Given the description of an element on the screen output the (x, y) to click on. 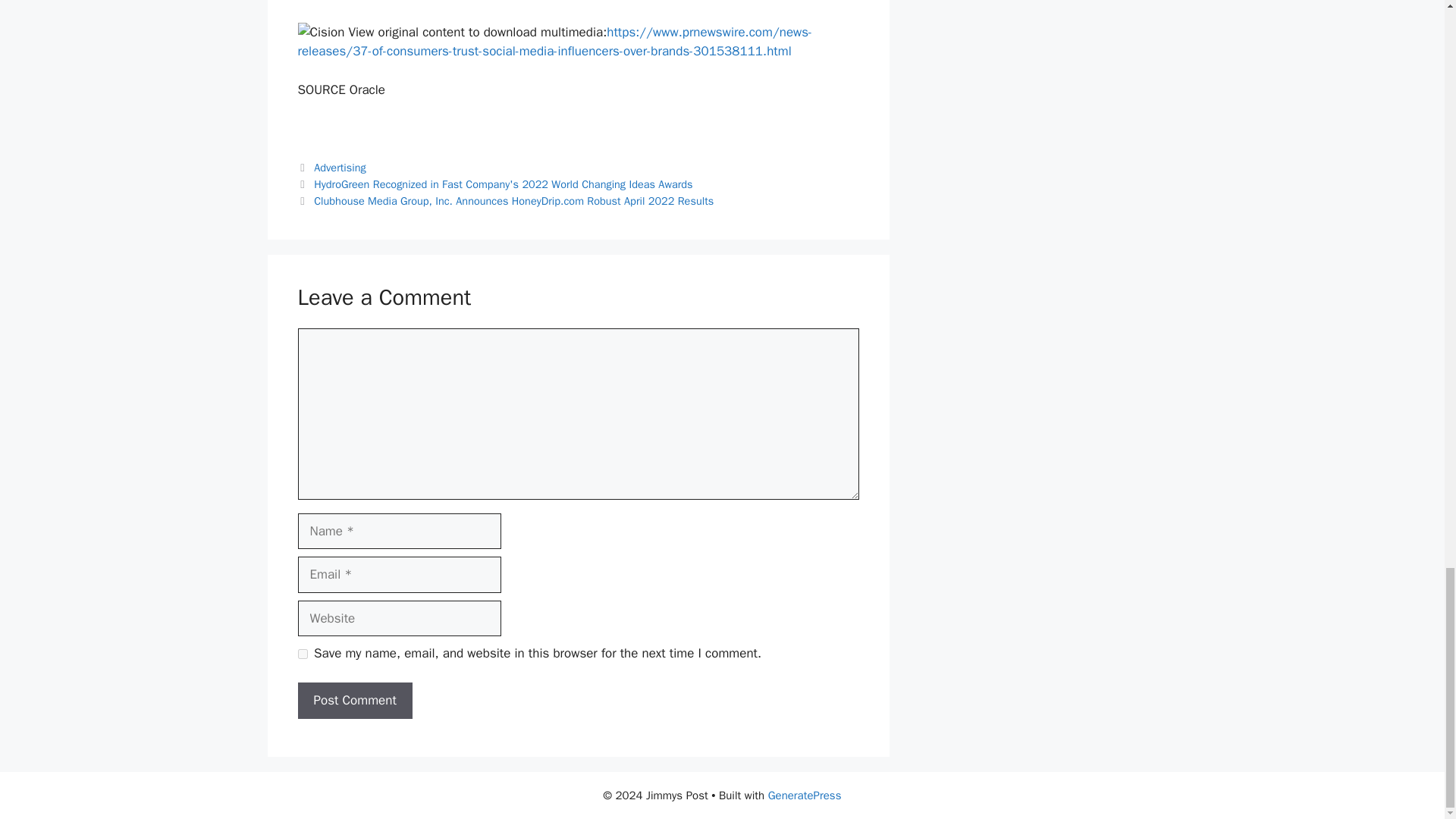
Post Comment (354, 700)
Cision (320, 32)
GeneratePress (804, 795)
Advertising (340, 167)
Post Comment (354, 700)
yes (302, 654)
